Given the description of an element on the screen output the (x, y) to click on. 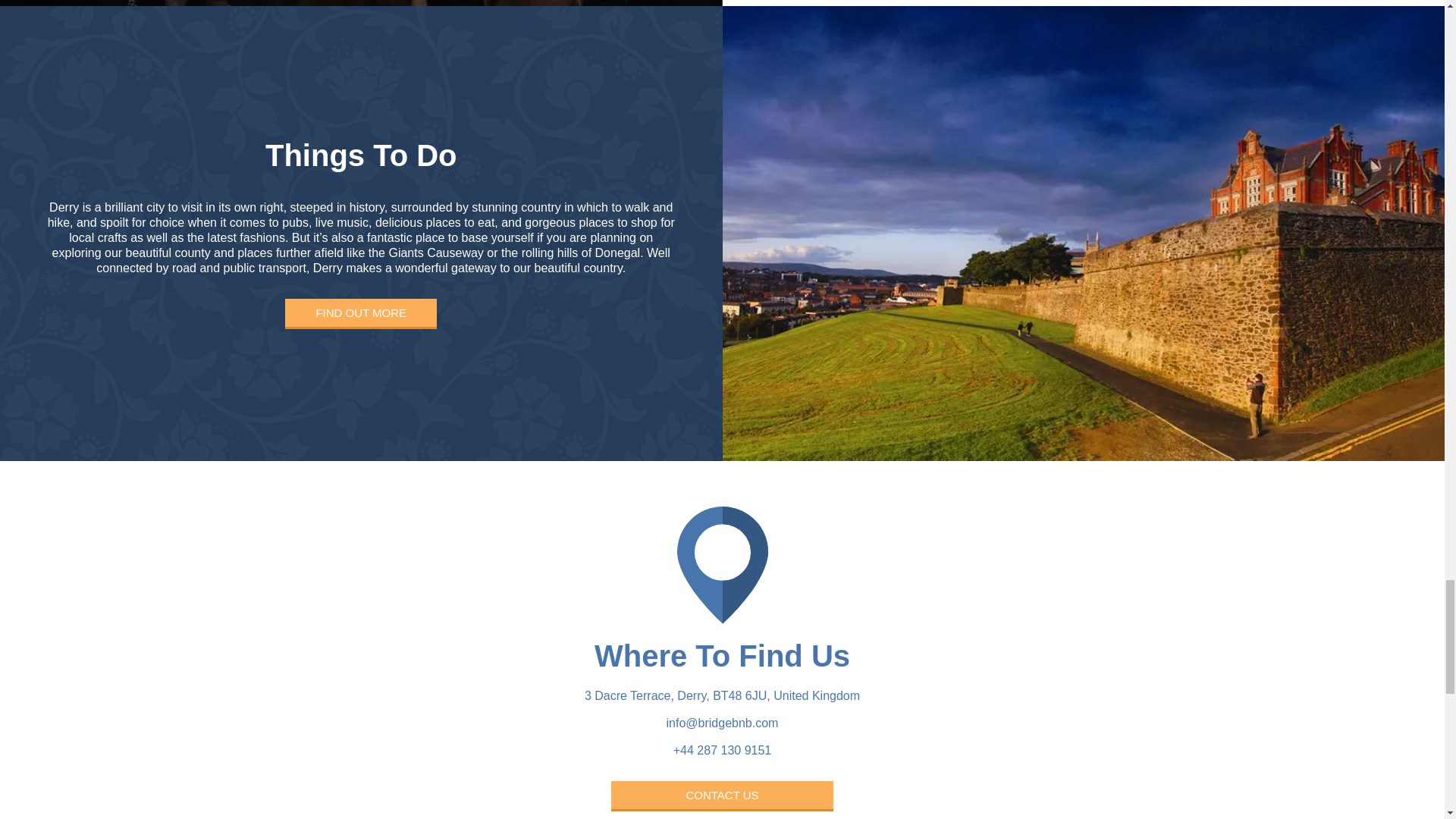
Things To Do (360, 163)
3 Dacre Terrace, Derry, BT48 6JU, United Kingdom (722, 695)
CONTACT US (721, 796)
FIND OUT MORE (360, 313)
